Given the description of an element on the screen output the (x, y) to click on. 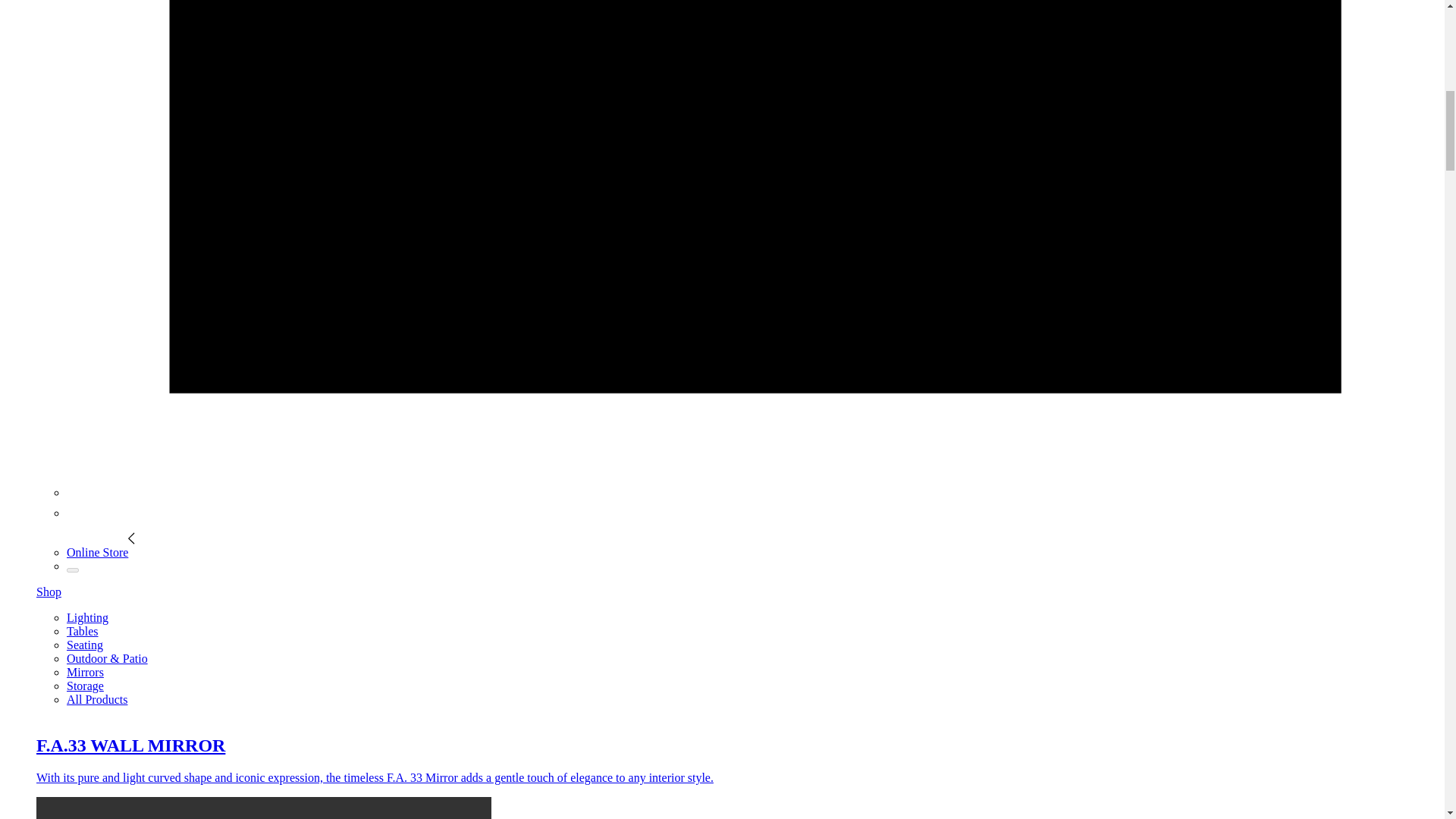
Storage (84, 685)
Shop (48, 591)
Seating (84, 644)
Online Store (100, 552)
Lighting (86, 617)
Tables (82, 631)
All Products (97, 698)
Mirrors (84, 671)
